Given the description of an element on the screen output the (x, y) to click on. 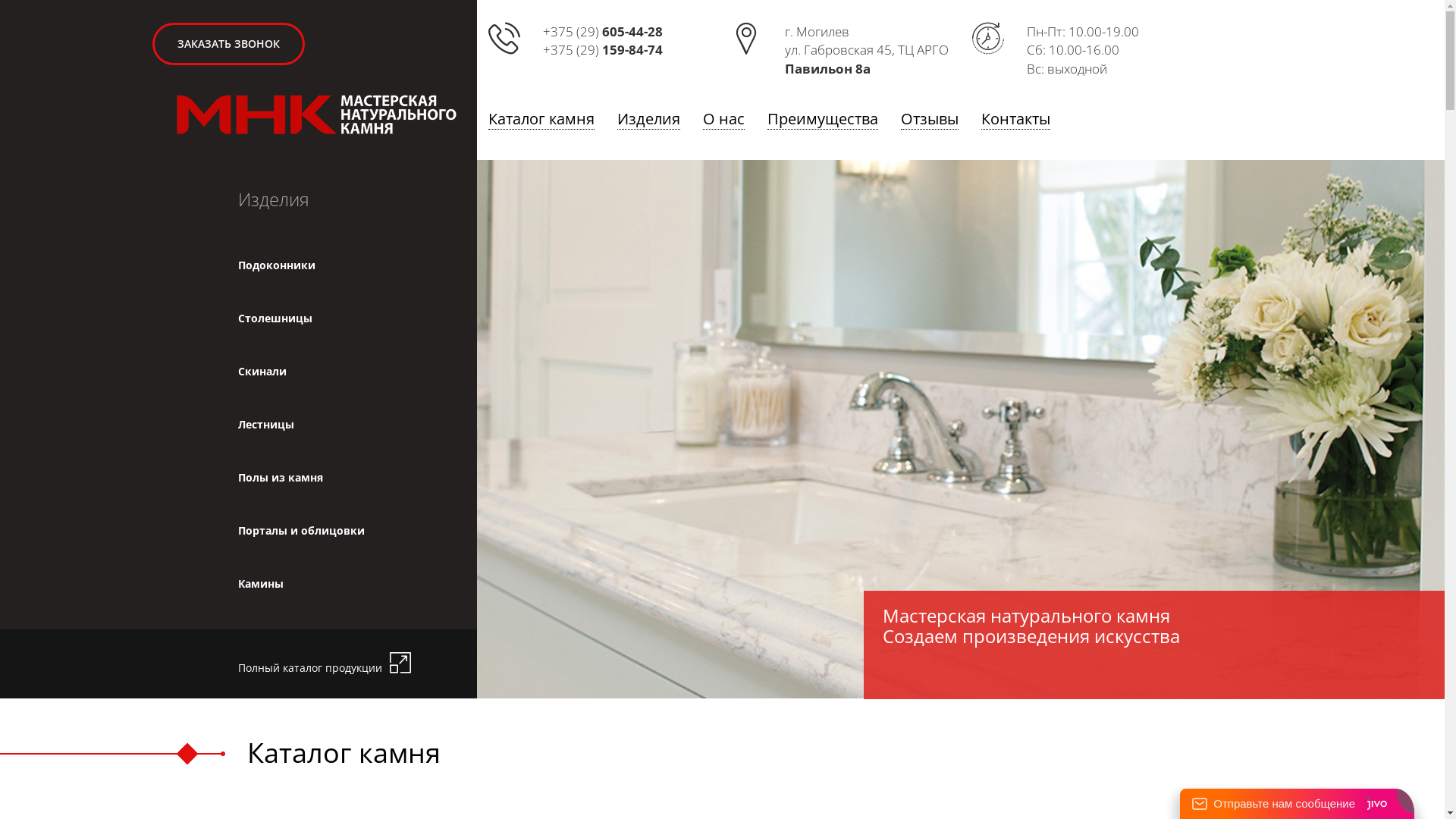
+375 (29) 605-44-28 Element type: text (602, 31)
+375 (29) 159-84-74 Element type: text (602, 49)
